Given the description of an element on the screen output the (x, y) to click on. 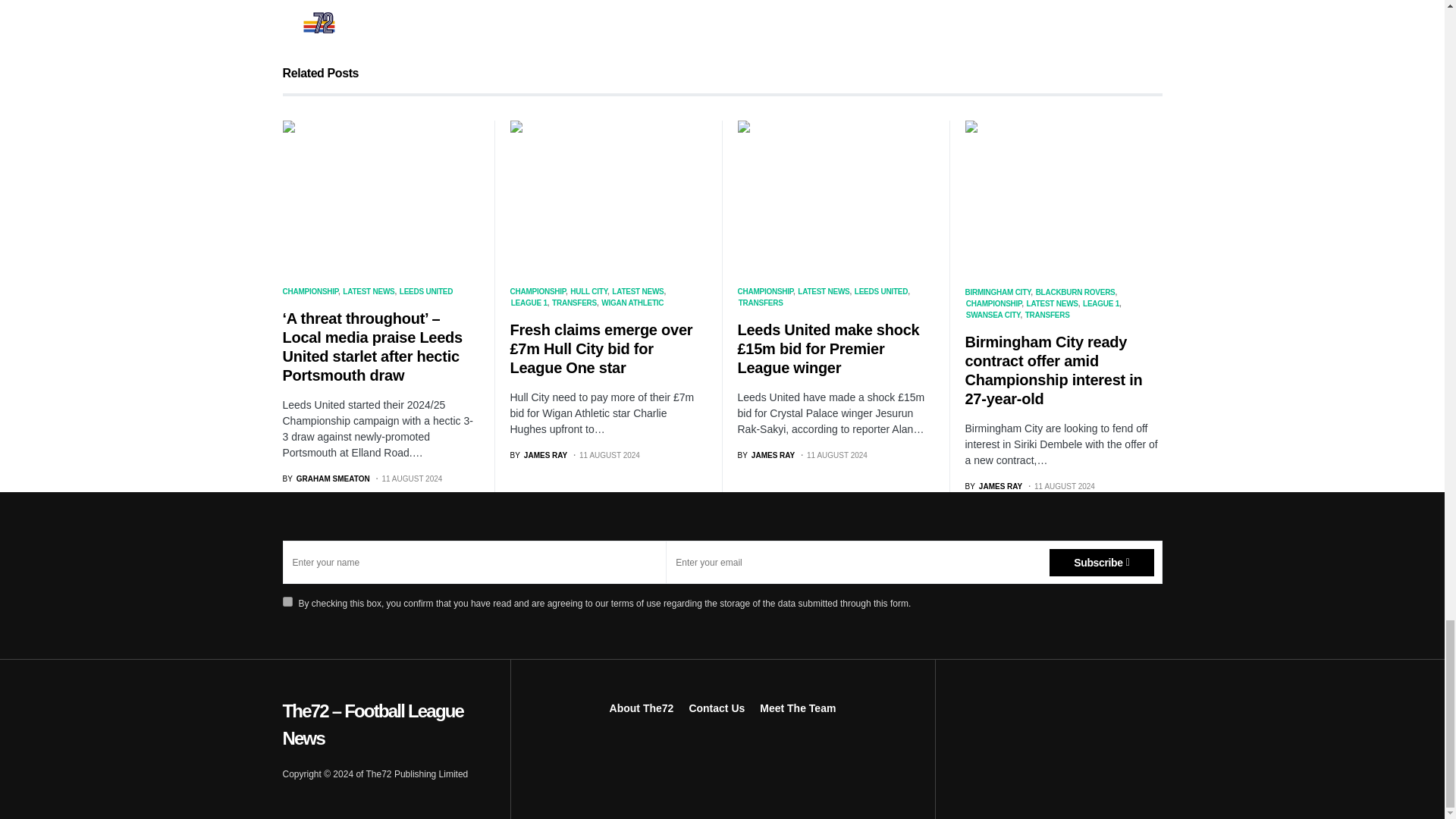
View all posts by James Ray (992, 486)
View all posts by Graham Smeaton (325, 478)
View all posts by James Ray (765, 455)
View all posts by James Ray (538, 455)
on (287, 601)
